Given the description of an element on the screen output the (x, y) to click on. 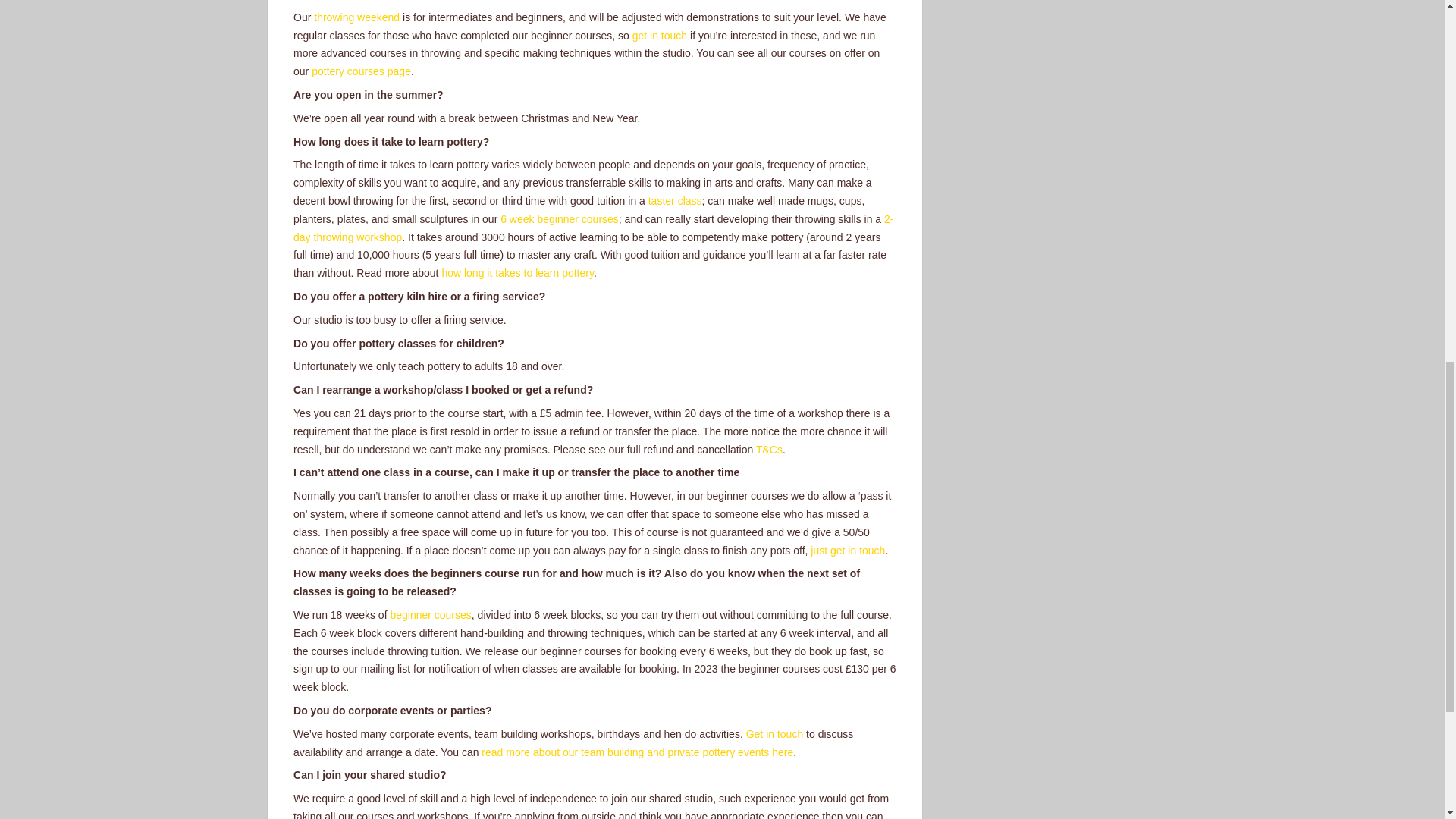
how long it takes to learn pottery (517, 272)
Get in touch (774, 734)
2-day throwing workshop (593, 227)
pottery courses page (360, 70)
6 week beginner courses (559, 218)
taster class (674, 200)
beginner courses (430, 614)
throwing weekend (356, 17)
just get in touch (847, 550)
get in touch (659, 35)
